Given the description of an element on the screen output the (x, y) to click on. 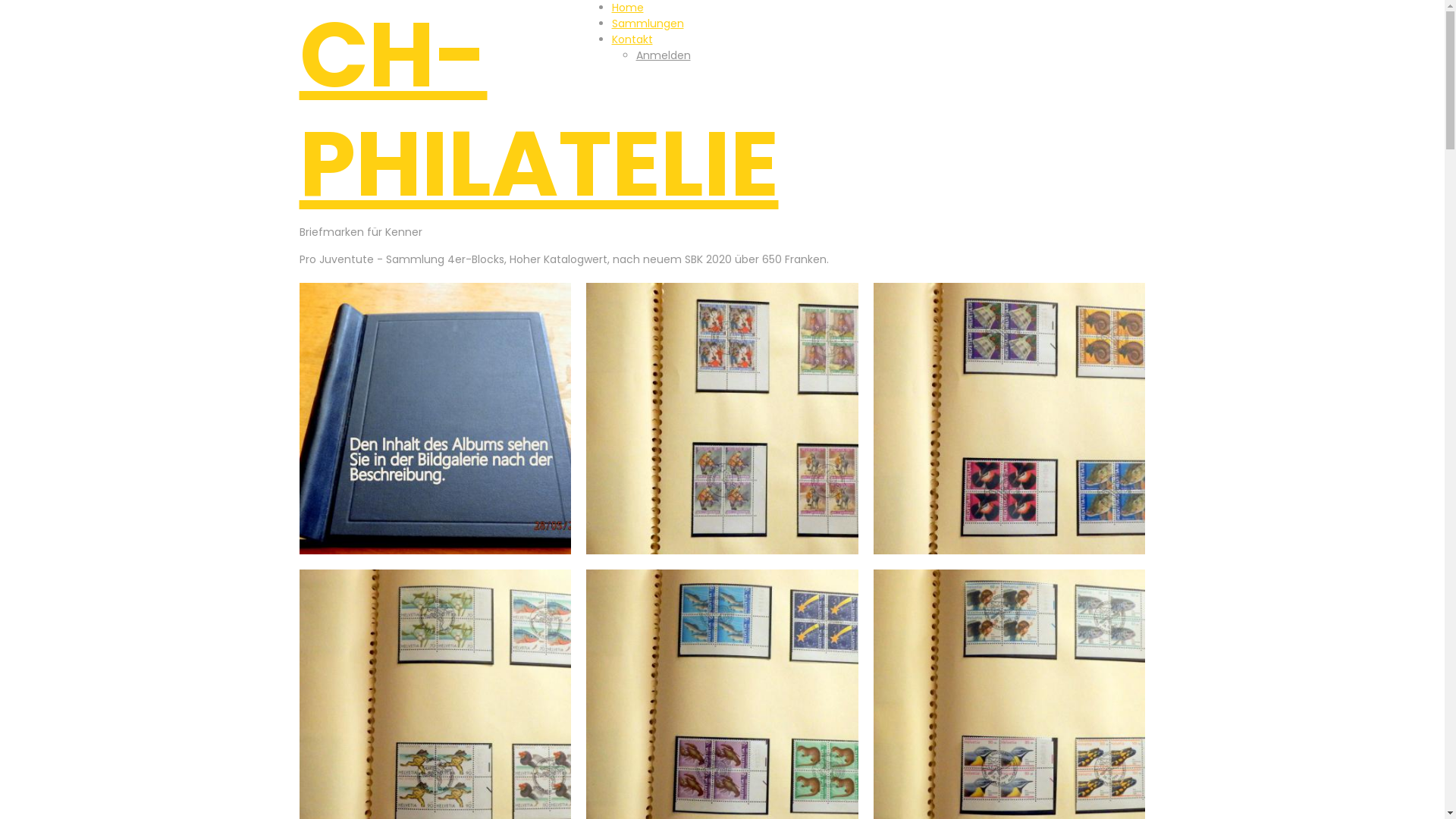
P1010042 Element type: hover (1009, 418)
Sammlungen Element type: text (647, 23)
Kontakt Element type: text (631, 39)
Anmelden Element type: text (662, 54)
Home Element type: text (627, 7)
P5280001 Kopie Element type: hover (434, 418)
P1010043 Element type: hover (722, 418)
